Given the description of an element on the screen output the (x, y) to click on. 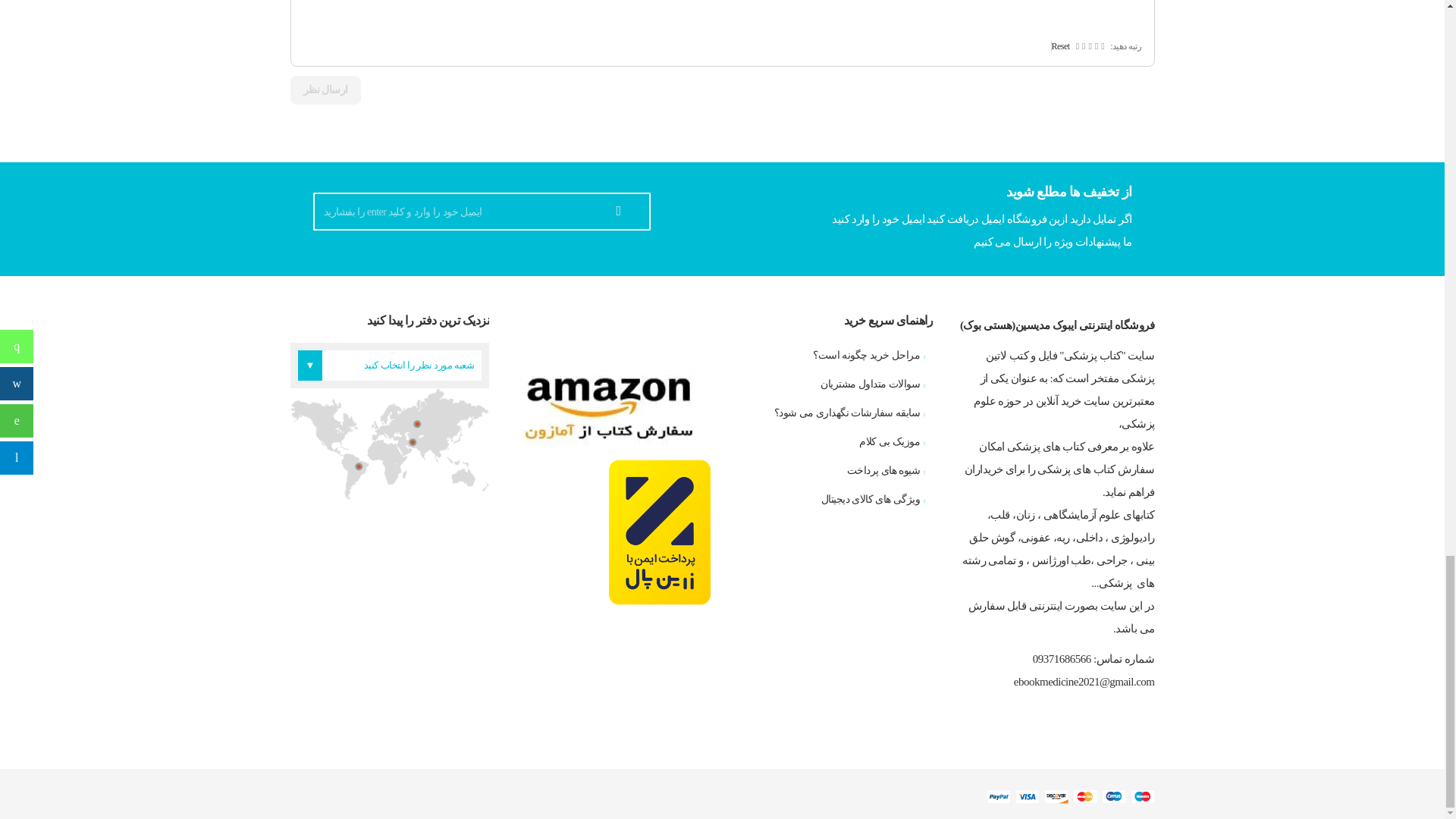
bad (1101, 46)
gorgeous (1076, 46)
poor (1095, 46)
regular (1088, 46)
good (1082, 46)
